Given the description of an element on the screen output the (x, y) to click on. 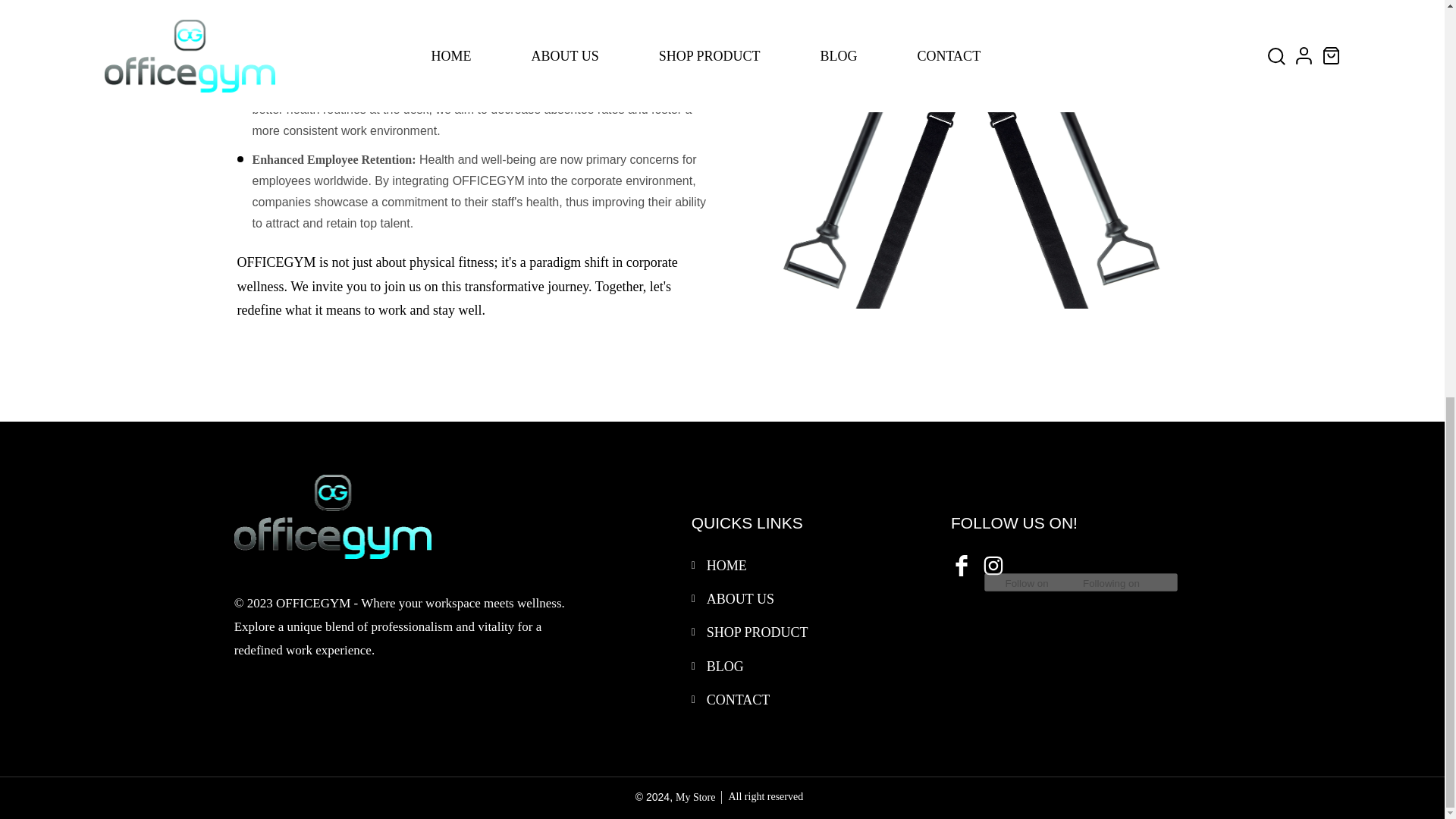
Instagram - My Store (991, 564)
Facebook - My Store (959, 564)
CONTACT (738, 699)
HOME (726, 565)
ABOUT US (740, 598)
SHOP PRODUCT (757, 631)
BLOG (725, 666)
My Store (695, 797)
